Given the description of an element on the screen output the (x, y) to click on. 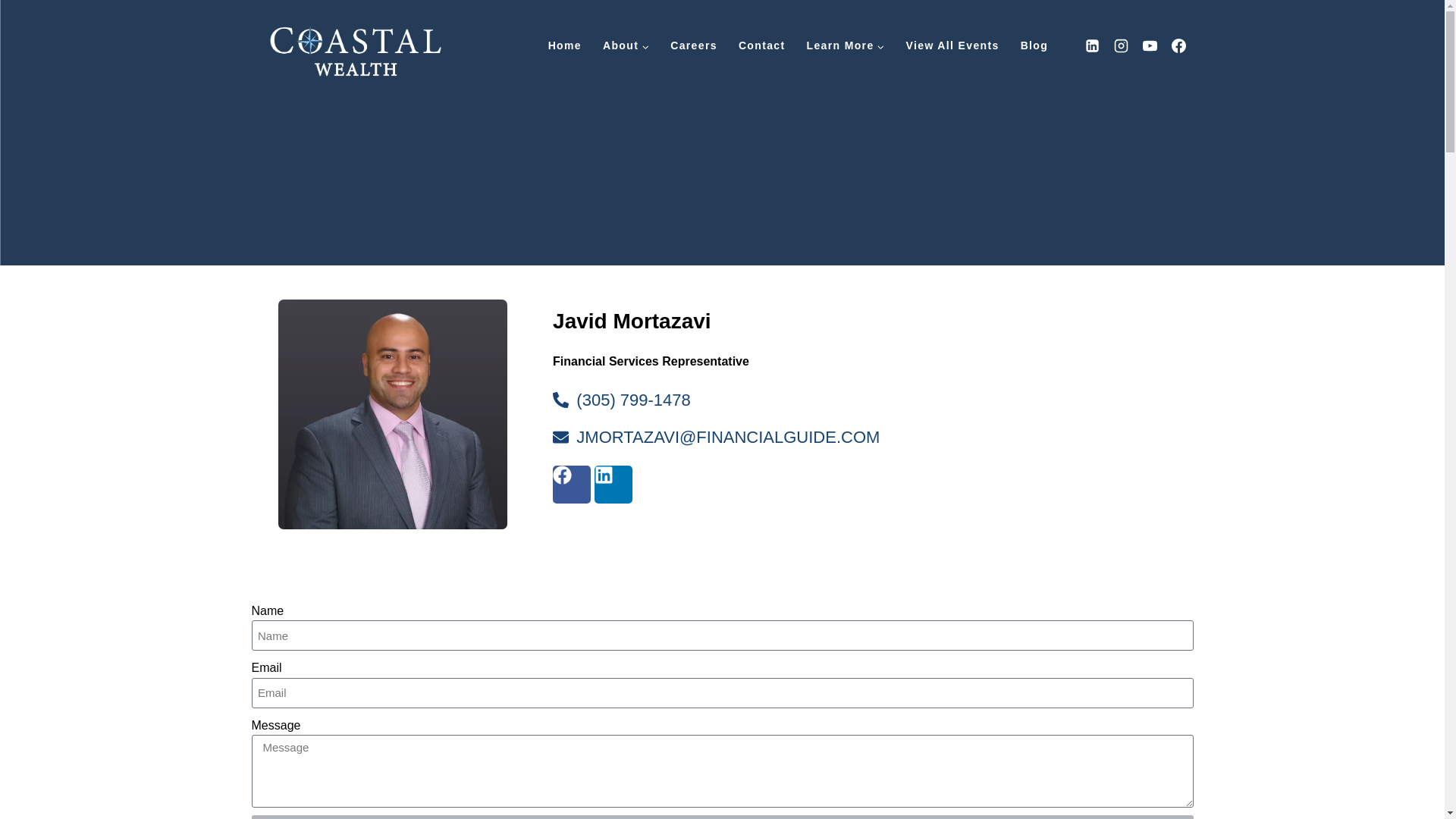
About (625, 46)
Blog (1034, 46)
View All Events (952, 46)
Learn More (845, 46)
Careers (693, 46)
Home (564, 46)
Contact (762, 46)
